Given the description of an element on the screen output the (x, y) to click on. 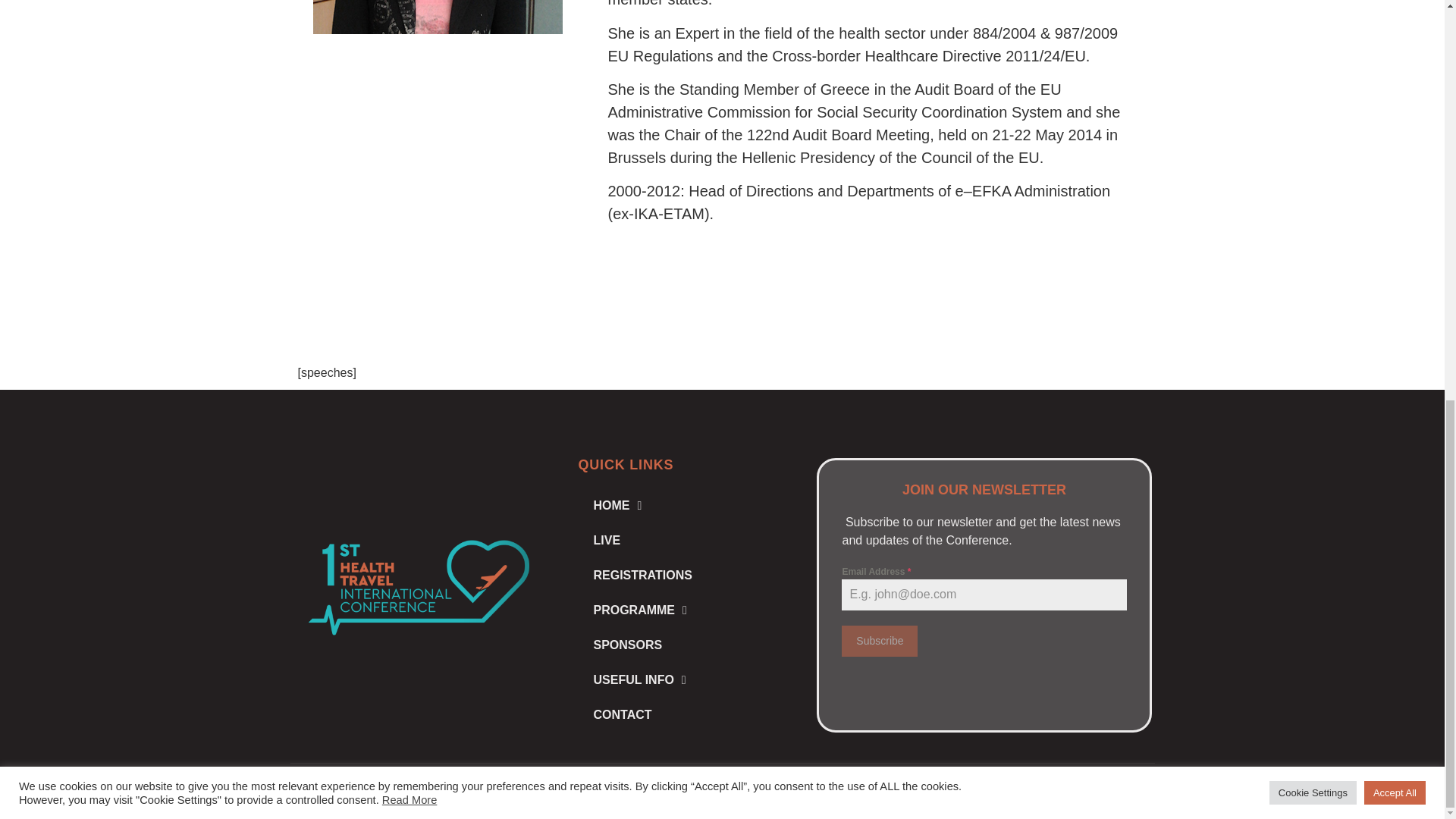
SPONSORS (685, 645)
USEFUL INFO (685, 679)
REGISTRATIONS (685, 574)
HOME (685, 505)
LIVE (685, 540)
PROGRAMME (685, 610)
